Given the description of an element on the screen output the (x, y) to click on. 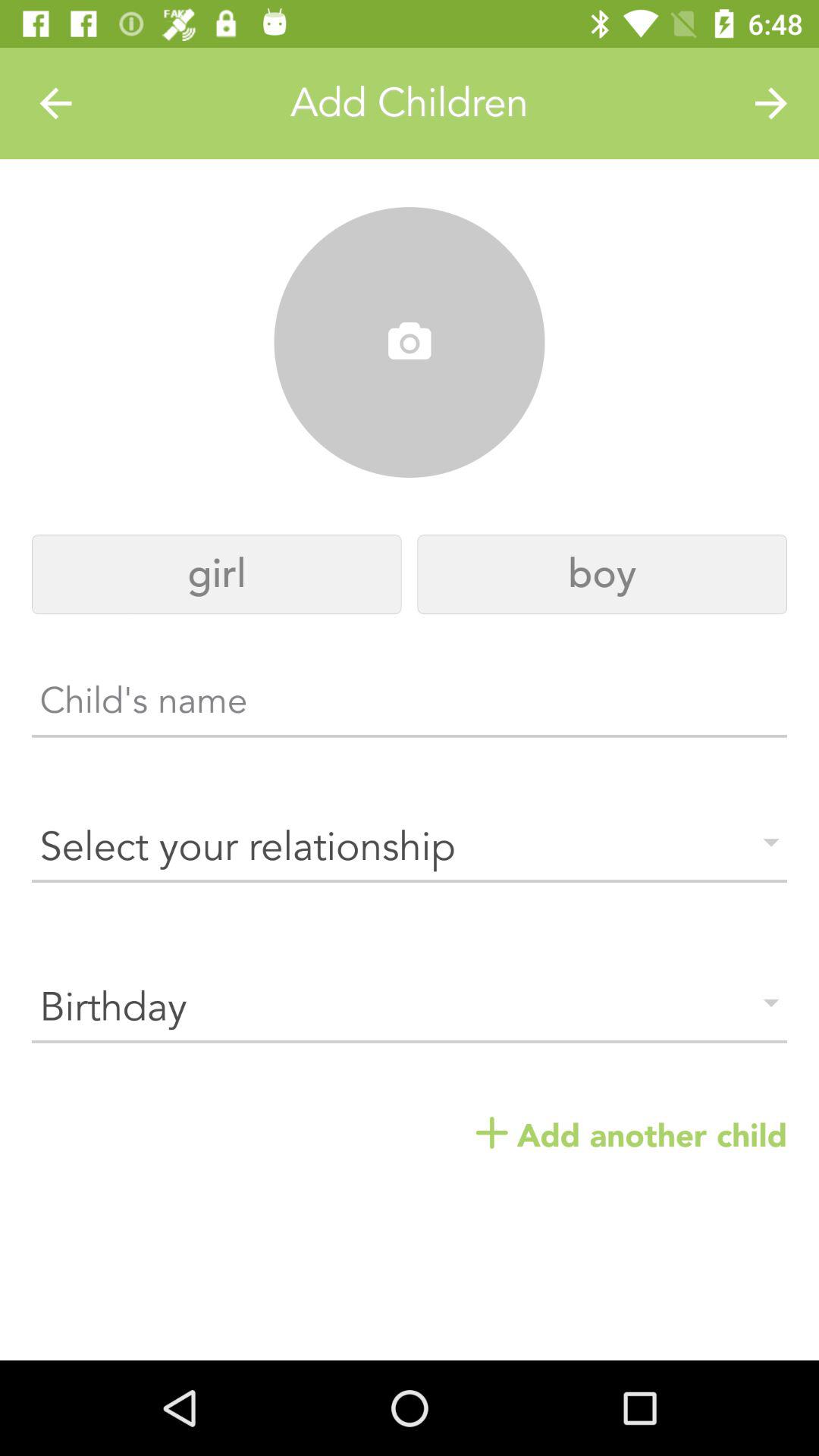
turn off icon next to boy (216, 574)
